Given the description of an element on the screen output the (x, y) to click on. 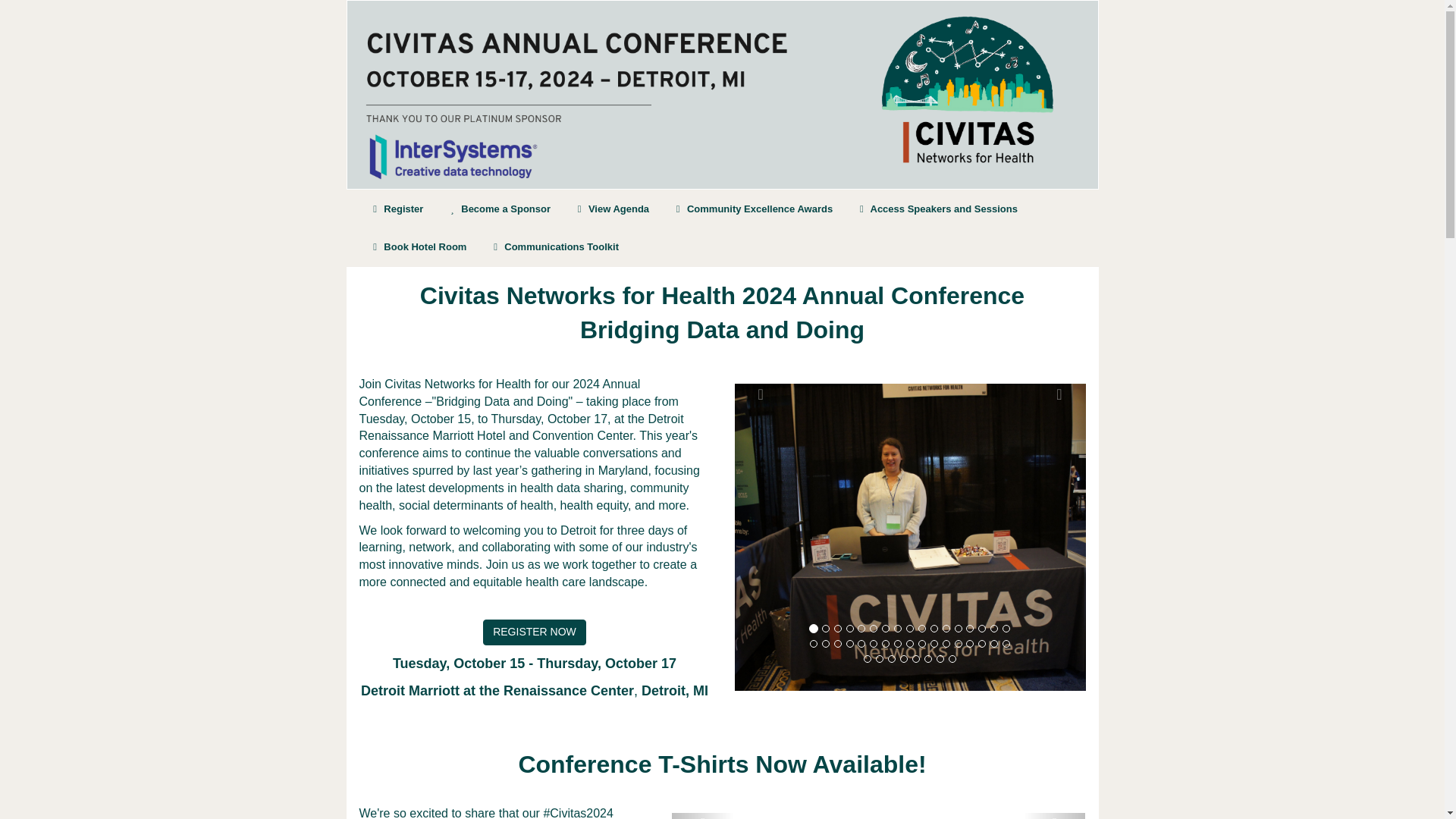
Register (396, 208)
Community Excellence Awards (752, 208)
REGISTER NOW (534, 632)
View Agenda (611, 208)
Communications Toolkit (553, 246)
Book Hotel Room (418, 246)
Access Speakers and Sessions (936, 208)
Become a Sponsor (497, 208)
